Given the description of an element on the screen output the (x, y) to click on. 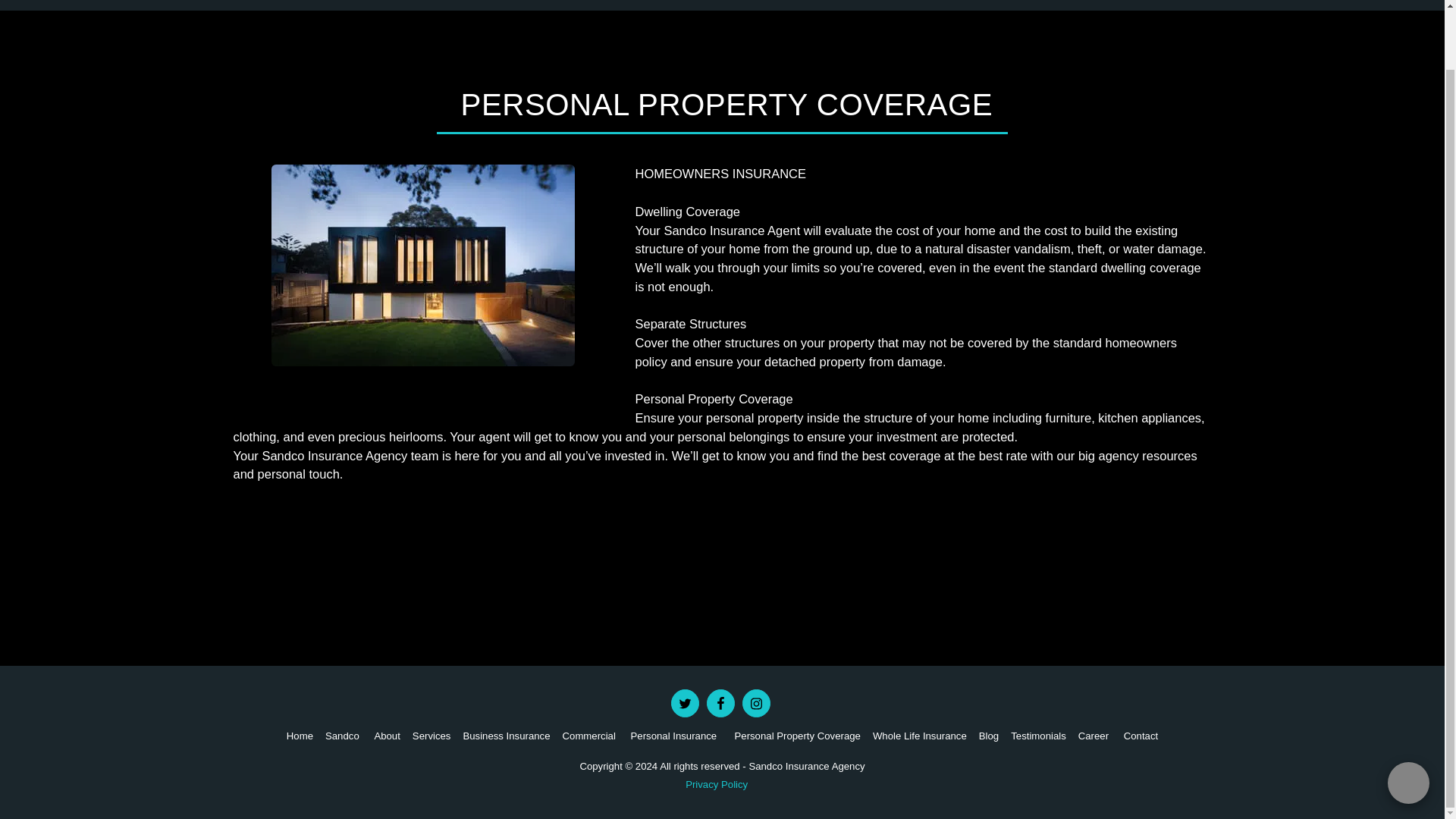
Home (299, 735)
Sandco  (342, 735)
About (386, 735)
